Given the description of an element on the screen output the (x, y) to click on. 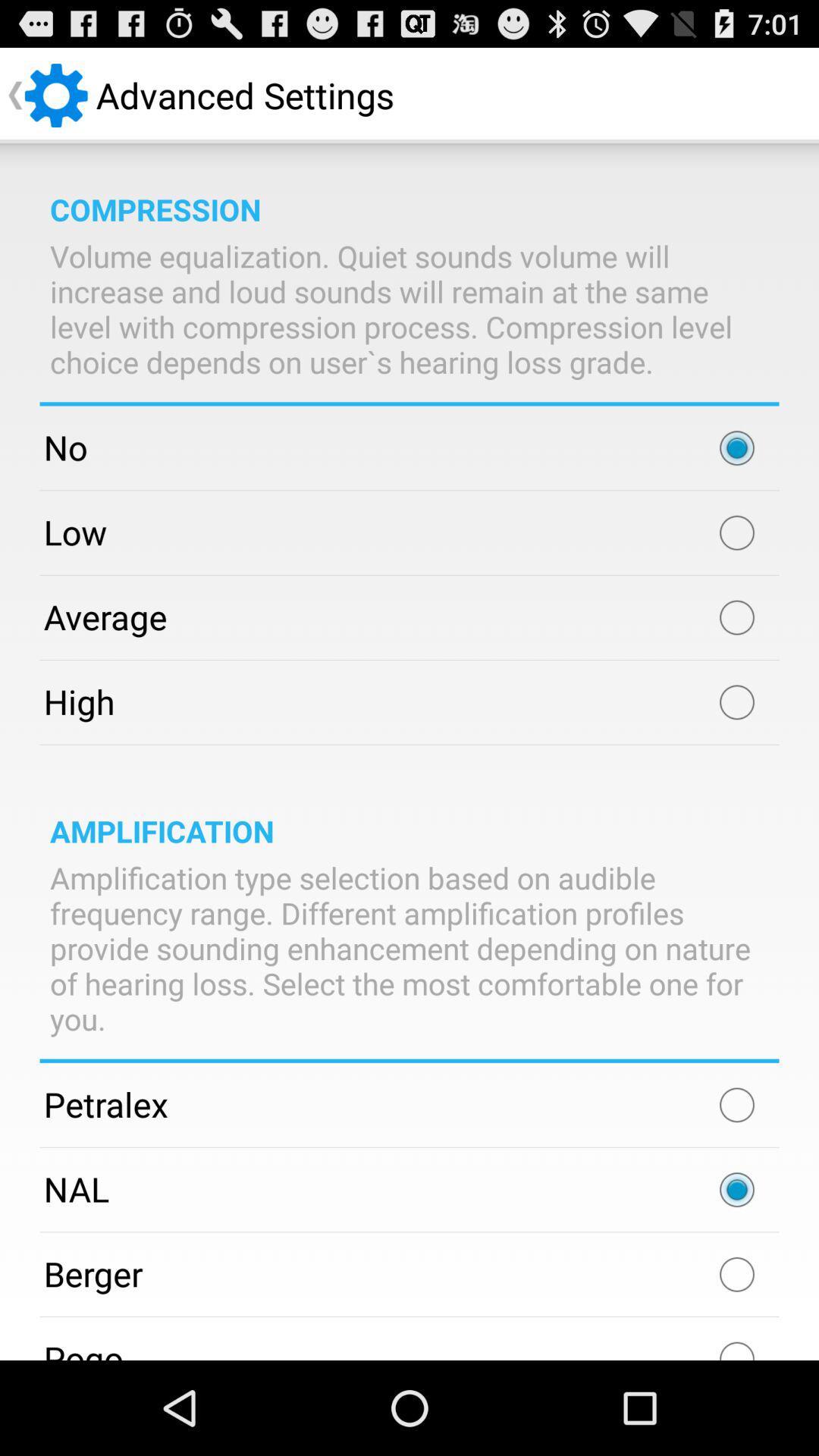
choose high compression (736, 702)
